Given the description of an element on the screen output the (x, y) to click on. 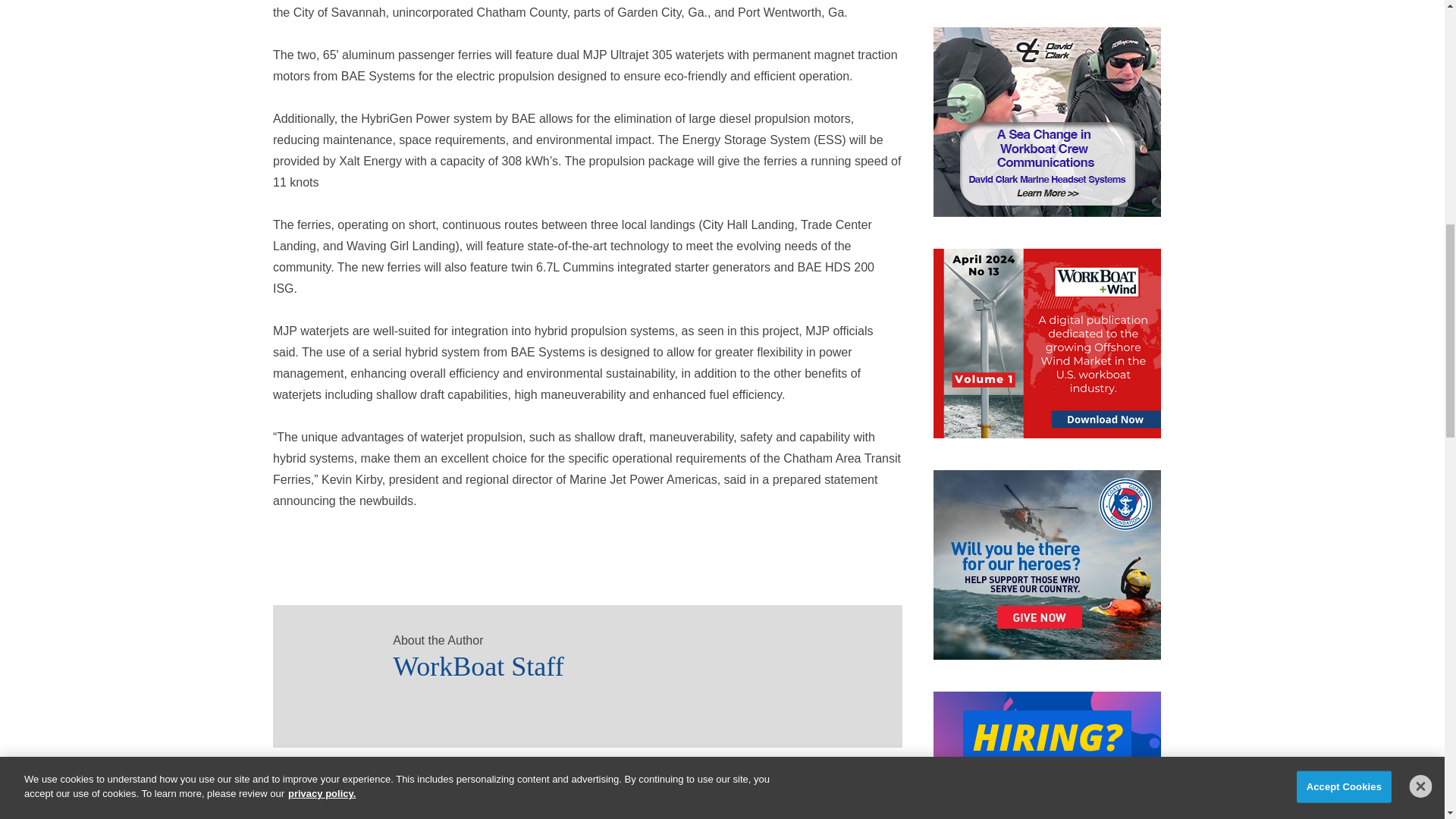
WorkBoat Staff (325, 657)
WorkBoat Staff (631, 661)
